Given the description of an element on the screen output the (x, y) to click on. 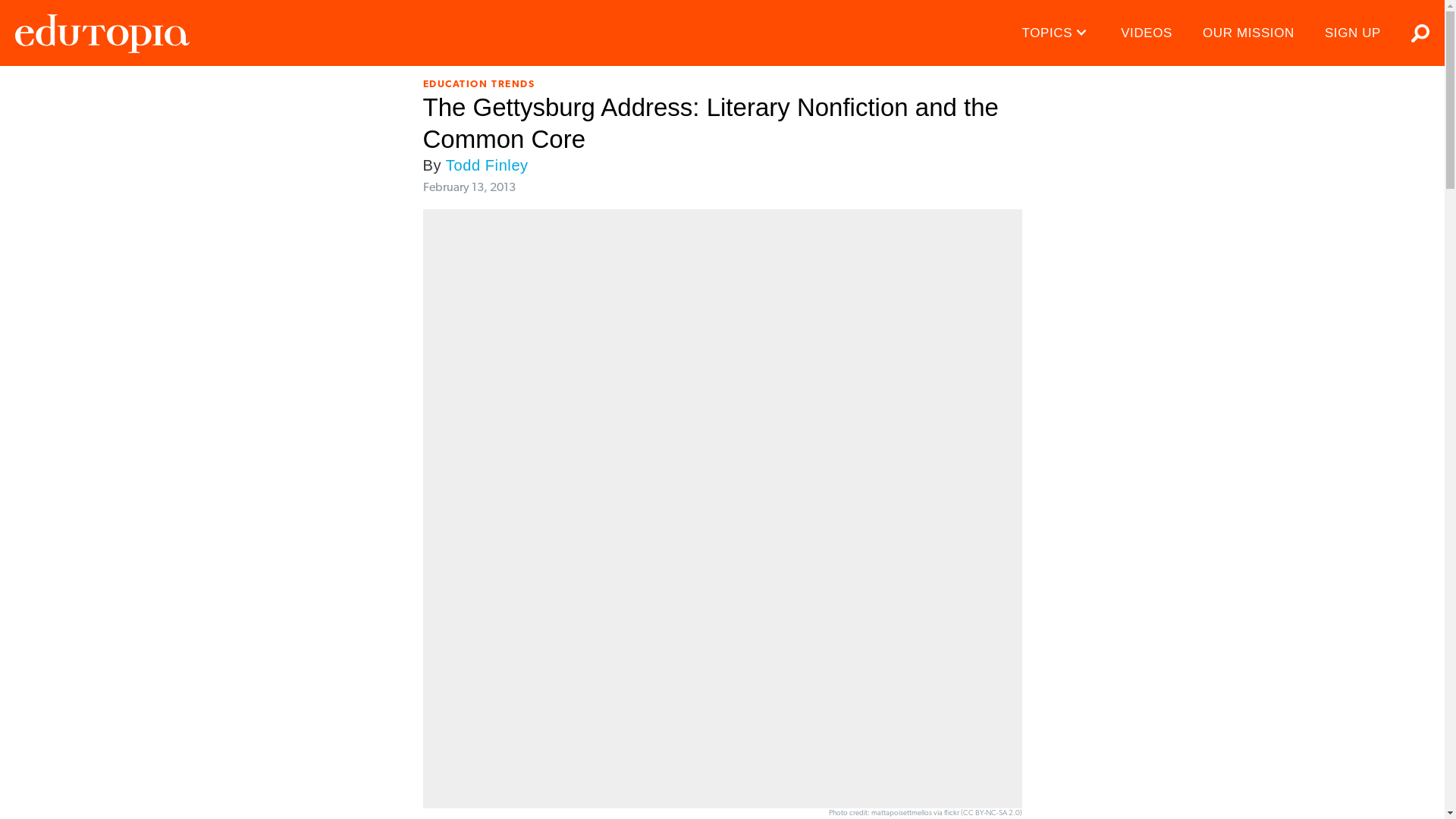
SIGN UP (1352, 33)
Edutopia (101, 33)
Todd Finley (486, 165)
Edutopia (101, 33)
OUR MISSION (1248, 33)
TOPICS (1056, 33)
VIDEOS (1146, 33)
